Given the description of an element on the screen output the (x, y) to click on. 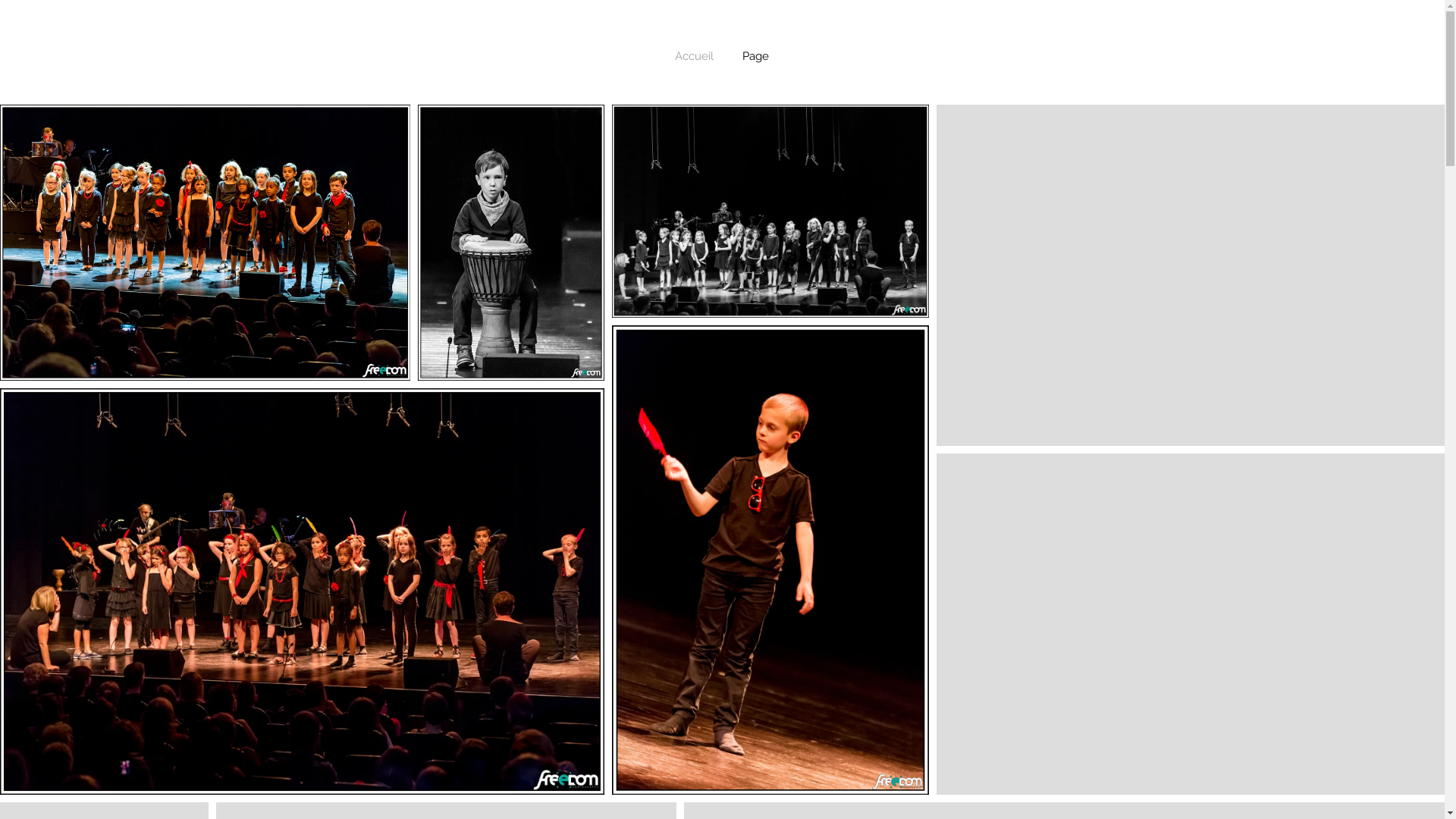
Embedded Content Element type: hover (437, 176)
Accueil Element type: text (693, 55)
Page Element type: text (755, 55)
Embedded Content Element type: hover (1006, 176)
Embedded Content Element type: hover (1319, 51)
